Given the description of an element on the screen output the (x, y) to click on. 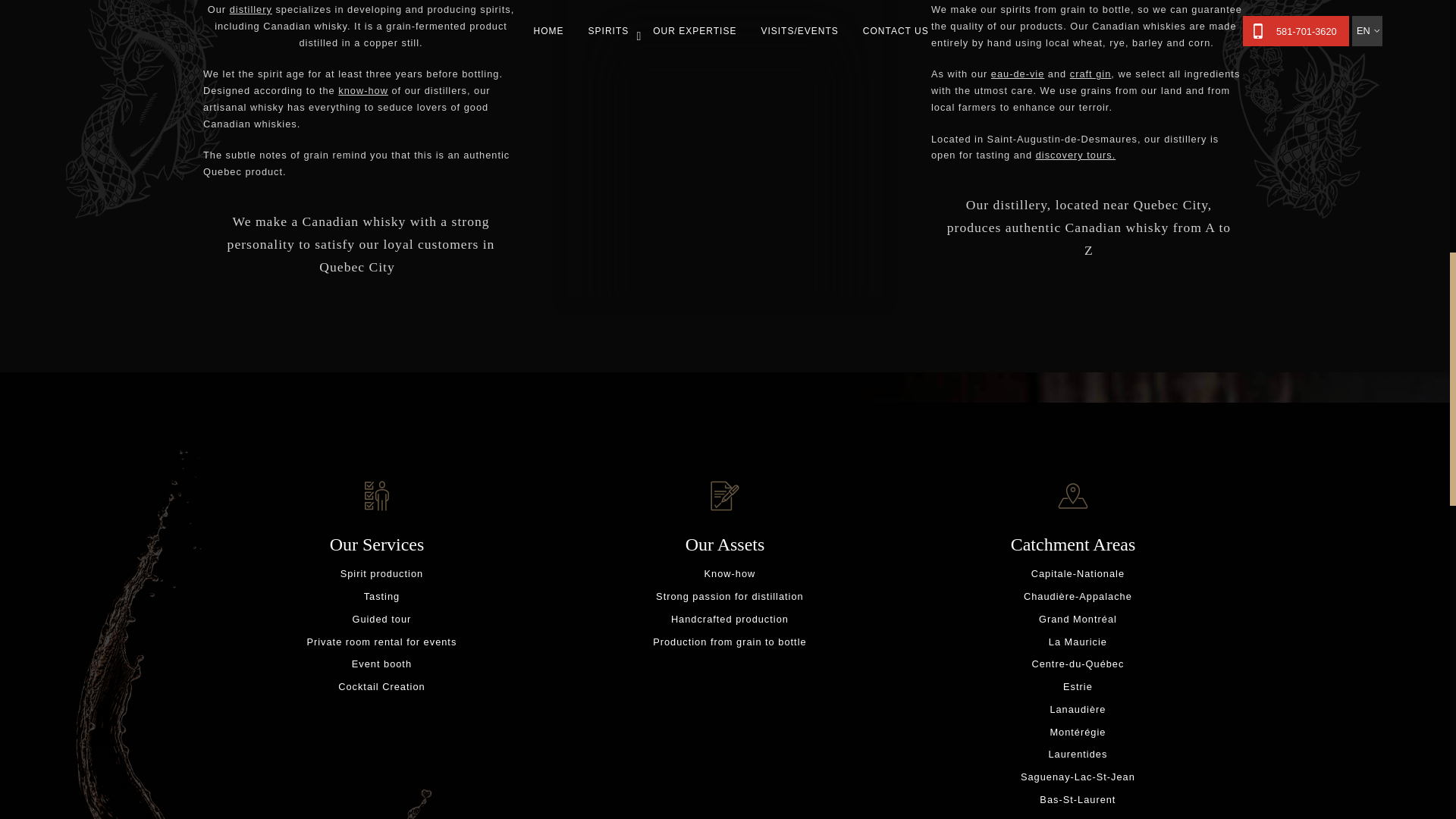
discovery tours. (1075, 154)
BeDirty (1091, 73)
Our Expertise (362, 90)
know-how (362, 90)
craft gin (1091, 73)
eau-de-vie (1017, 73)
distillery (251, 9)
Aquavice (1017, 73)
Home (251, 9)
